Given the description of an element on the screen output the (x, y) to click on. 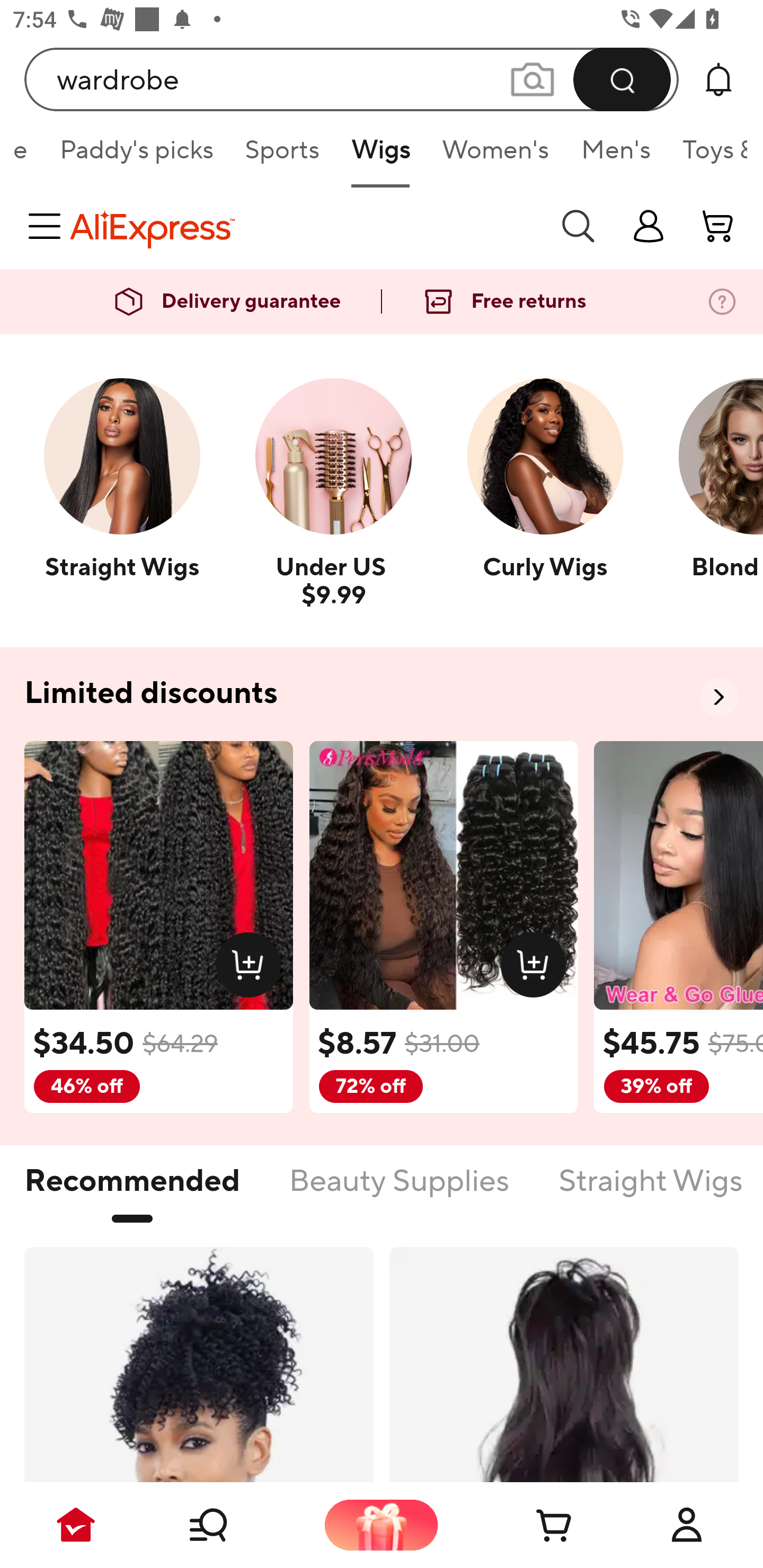
wardrobe (351, 79)
Paddy's picks (135, 155)
Sports (281, 155)
Women's (495, 155)
Men's (615, 155)
aliexpress (305, 225)
category (47, 225)
shop (648, 225)
account (718, 225)
Limited discounts  Limited discounts (381, 694)
128x128.png_ (252, 967)
128x128.png_ (536, 967)
Recommended (132, 1191)
Beauty Supplies (398, 1191)
Straight Wigs (650, 1191)
Shop (228, 1524)
Cart (533, 1524)
Account (686, 1524)
